Given the description of an element on the screen output the (x, y) to click on. 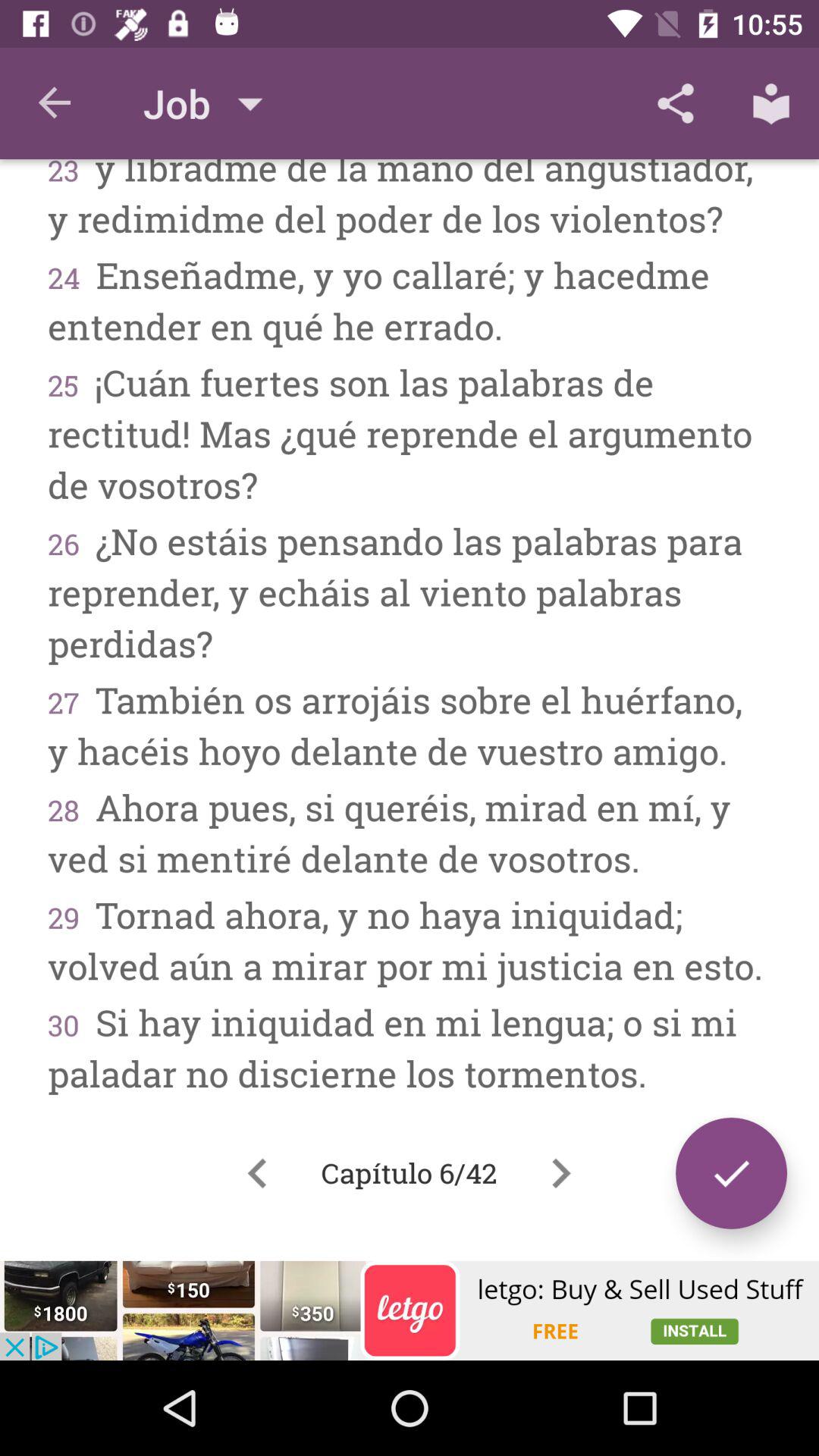
open item at the bottom left corner (257, 1173)
